Given the description of an element on the screen output the (x, y) to click on. 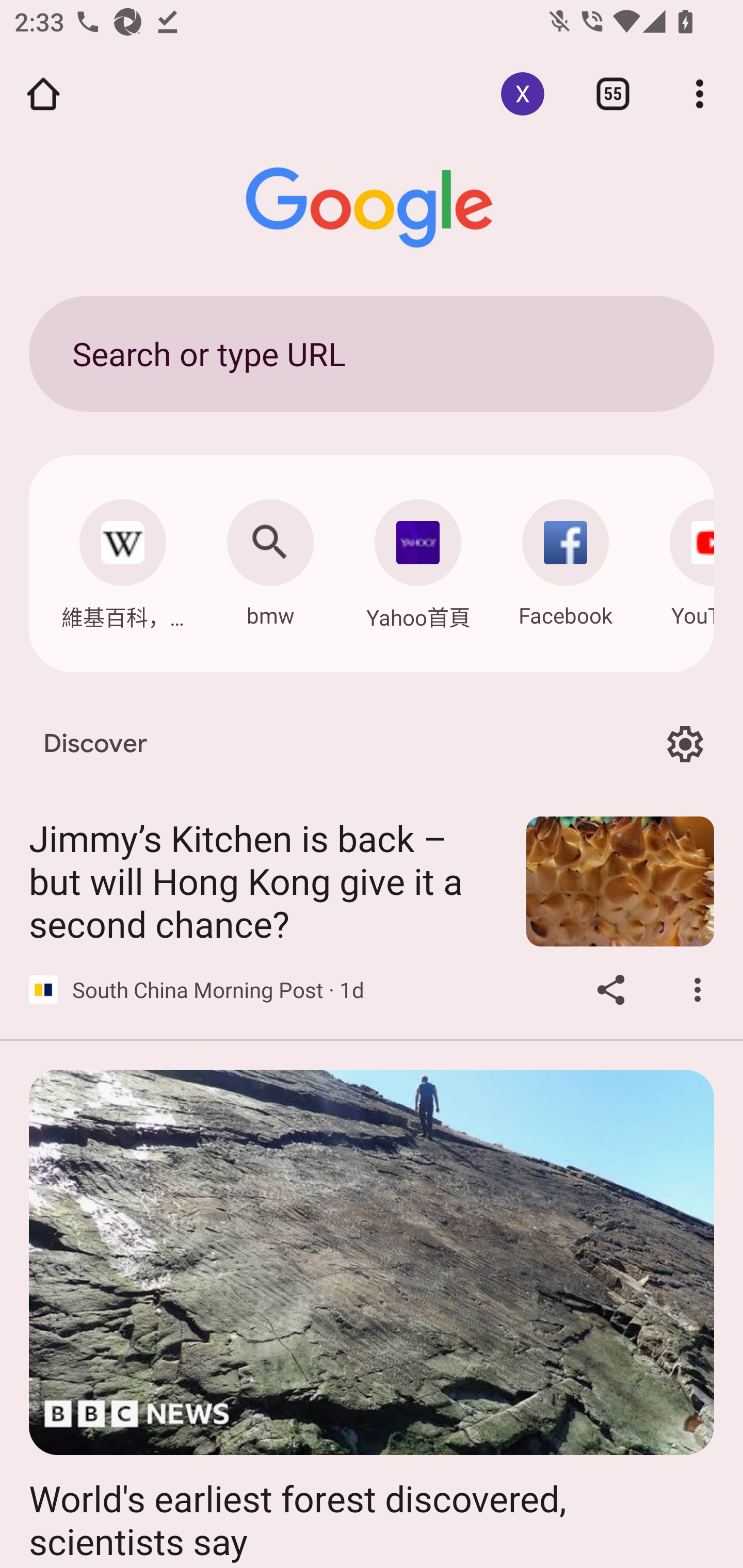
Open the home page (43, 93)
Switch or close tabs (612, 93)
Customize and control Google Chrome (699, 93)
Search or type URL (371, 353)
Search: bmw bmw (270, 558)
Navigate: Yahoo首頁: hk.mobi.yahoo.com Yahoo首頁 (417, 558)
Navigate: Facebook: m.facebook.com Facebook (565, 558)
Options for Discover (684, 743)
